Given the description of an element on the screen output the (x, y) to click on. 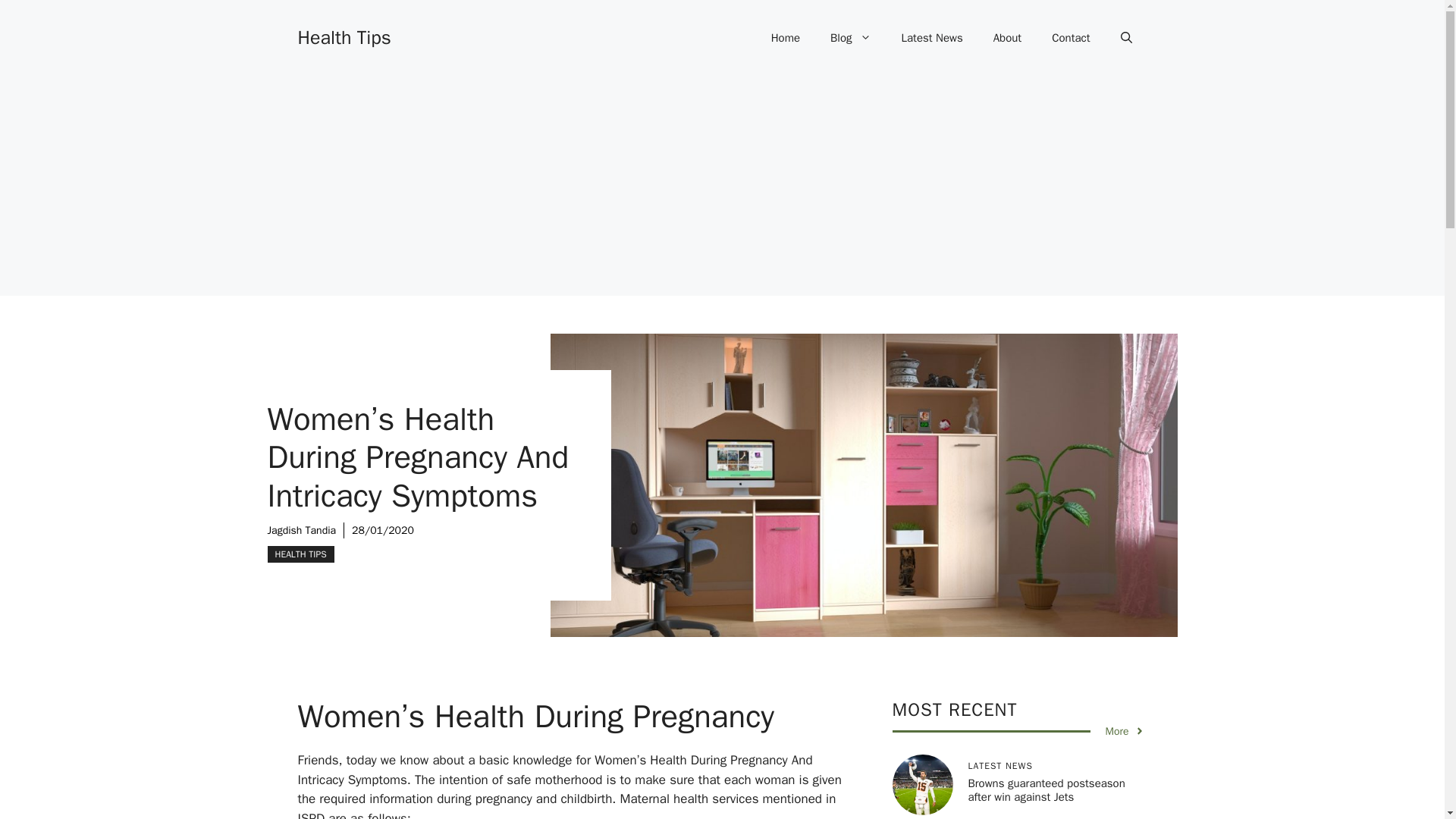
HEALTH TIPS (299, 554)
Browns guaranteed postseason after win against Jets (1046, 789)
Latest News (932, 37)
About (1007, 37)
Jagdish Tandia (301, 530)
Blog (850, 37)
Home (785, 37)
More (1124, 731)
Health Tips (343, 37)
Contact (1070, 37)
